Given the description of an element on the screen output the (x, y) to click on. 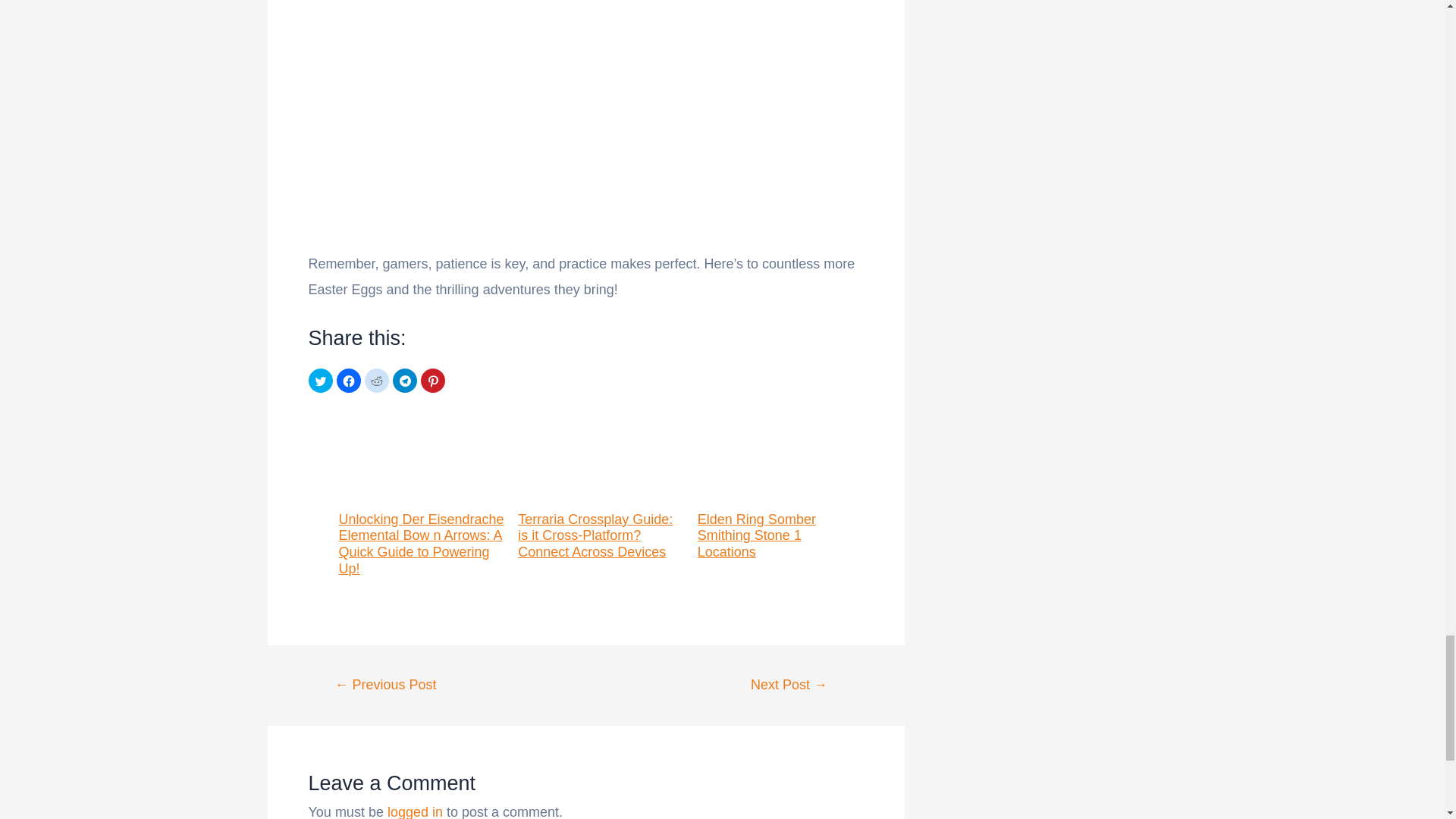
Click to share on Facebook (348, 380)
Click to share on Telegram (404, 380)
Elden Ring Somber Smithing Stone 1 Locations (780, 485)
Discovering Floral Treasures in Disney Dreamlight Valley (385, 684)
Click to share on Twitter (319, 380)
Click to share on Reddit (376, 380)
logged in (414, 811)
Click to share on Pinterest (432, 380)
